Given the description of an element on the screen output the (x, y) to click on. 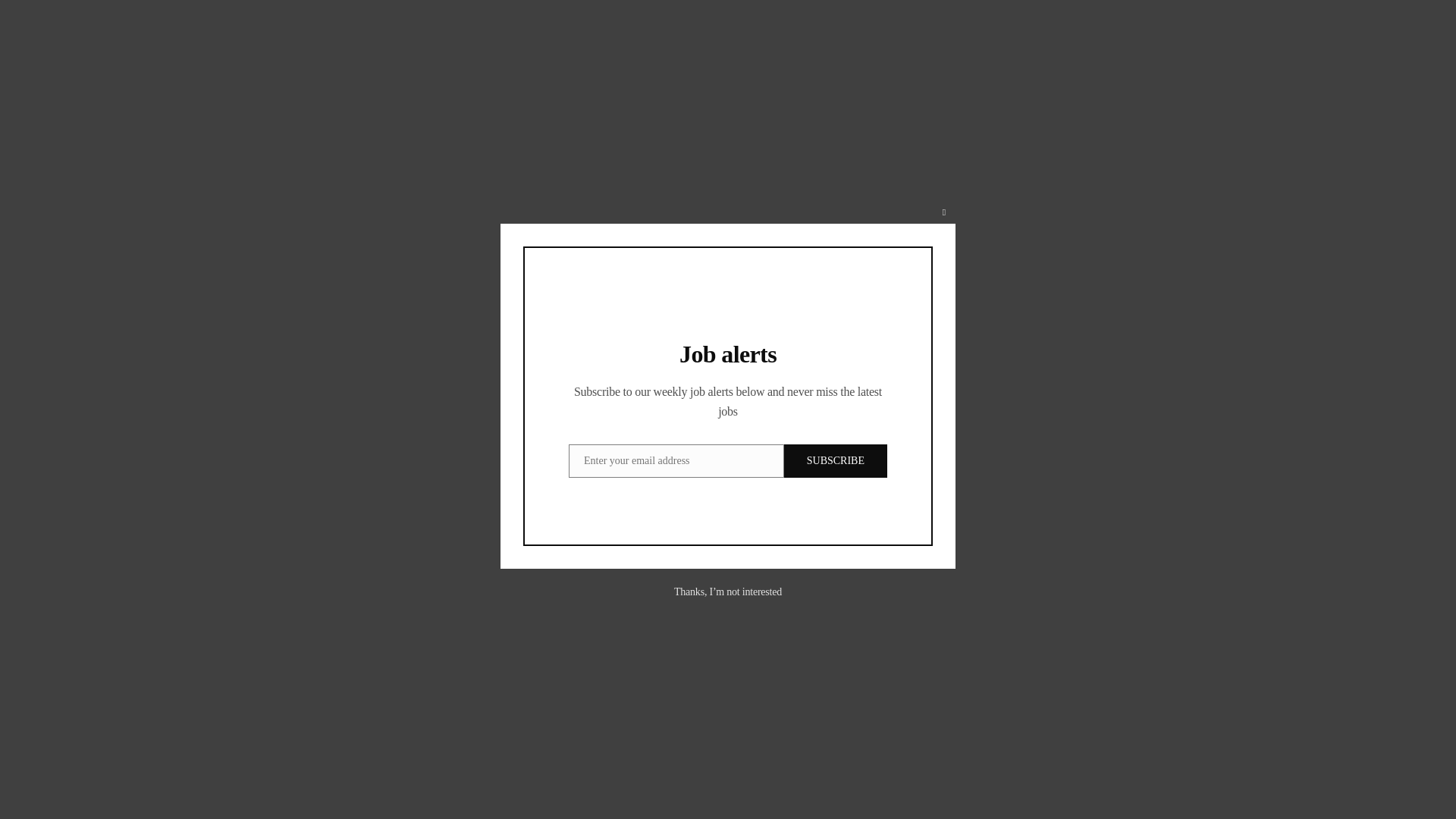
Remote Companies (498, 35)
Start Your New Job (376, 35)
Technology (963, 747)
Sign Up (783, 35)
Community (708, 35)
Information Technology (995, 725)
Software (1088, 725)
Visa Sponsorship Jobs (1021, 35)
Post A Job (1390, 35)
Cover Letter Template (883, 35)
